Given the description of an element on the screen output the (x, y) to click on. 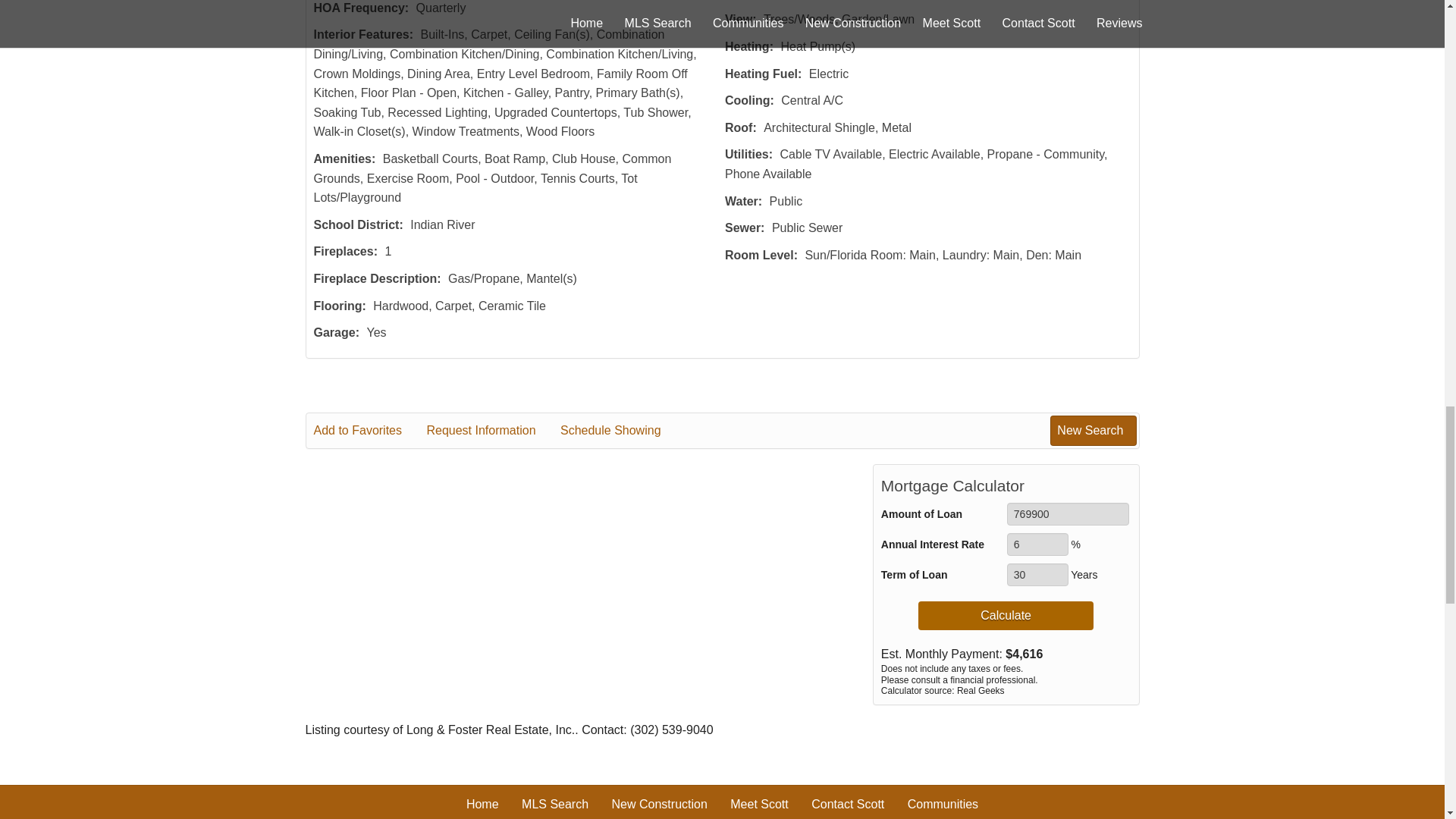
6 (1037, 544)
30 (1037, 574)
769900 (1068, 513)
